Given the description of an element on the screen output the (x, y) to click on. 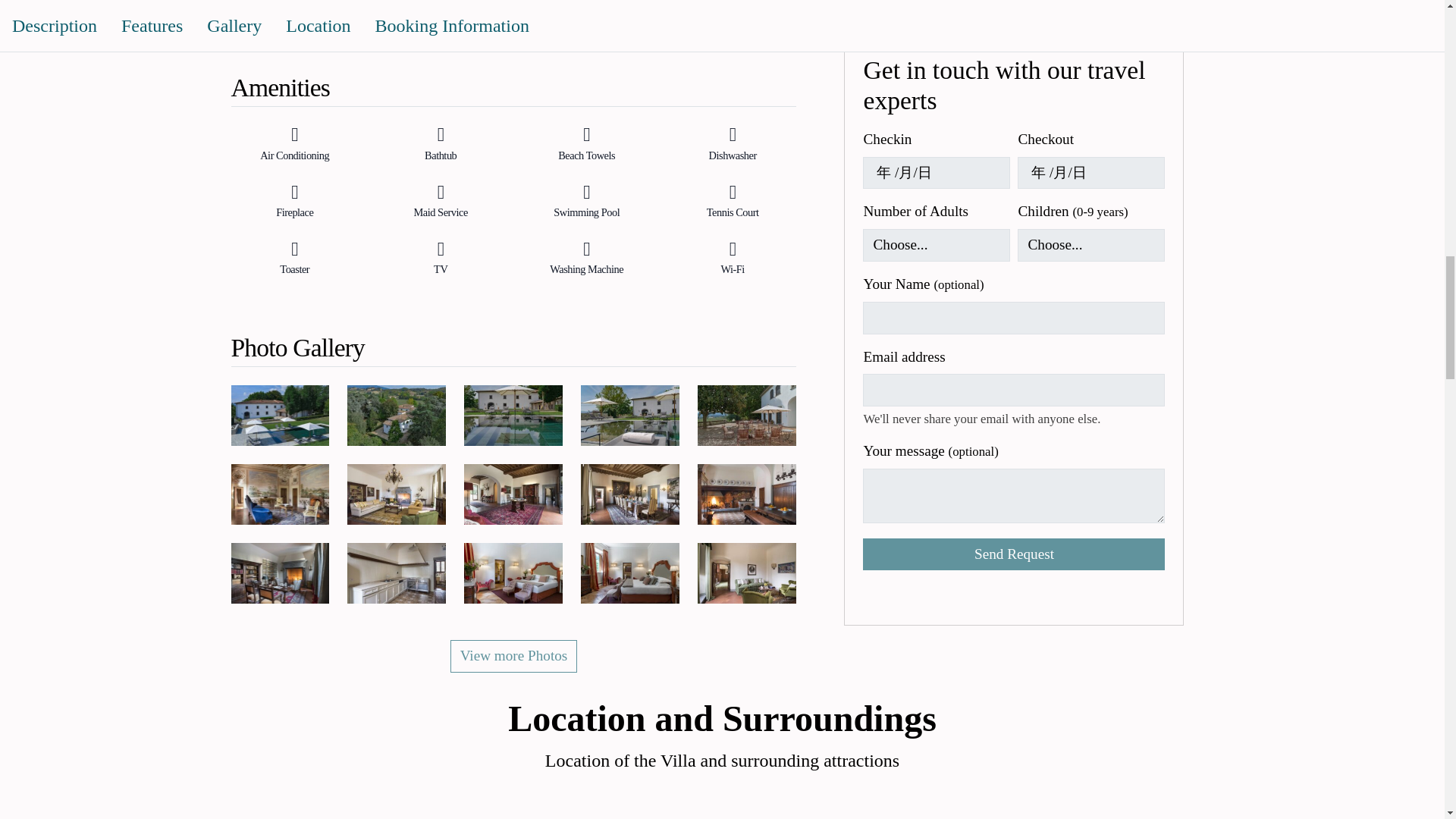
Image 3 of 41 (513, 414)
Image 4 of 41 (630, 414)
Image 7 of 41 (395, 494)
Image 2 of 41 (395, 414)
Image 8 of 41 (513, 494)
Image 12 of 41 (395, 572)
Image 5 of 41 (746, 414)
Image 15 of 41 (746, 572)
Image 11 of 41 (279, 572)
Image 13 of 41 (513, 572)
